Given the description of an element on the screen output the (x, y) to click on. 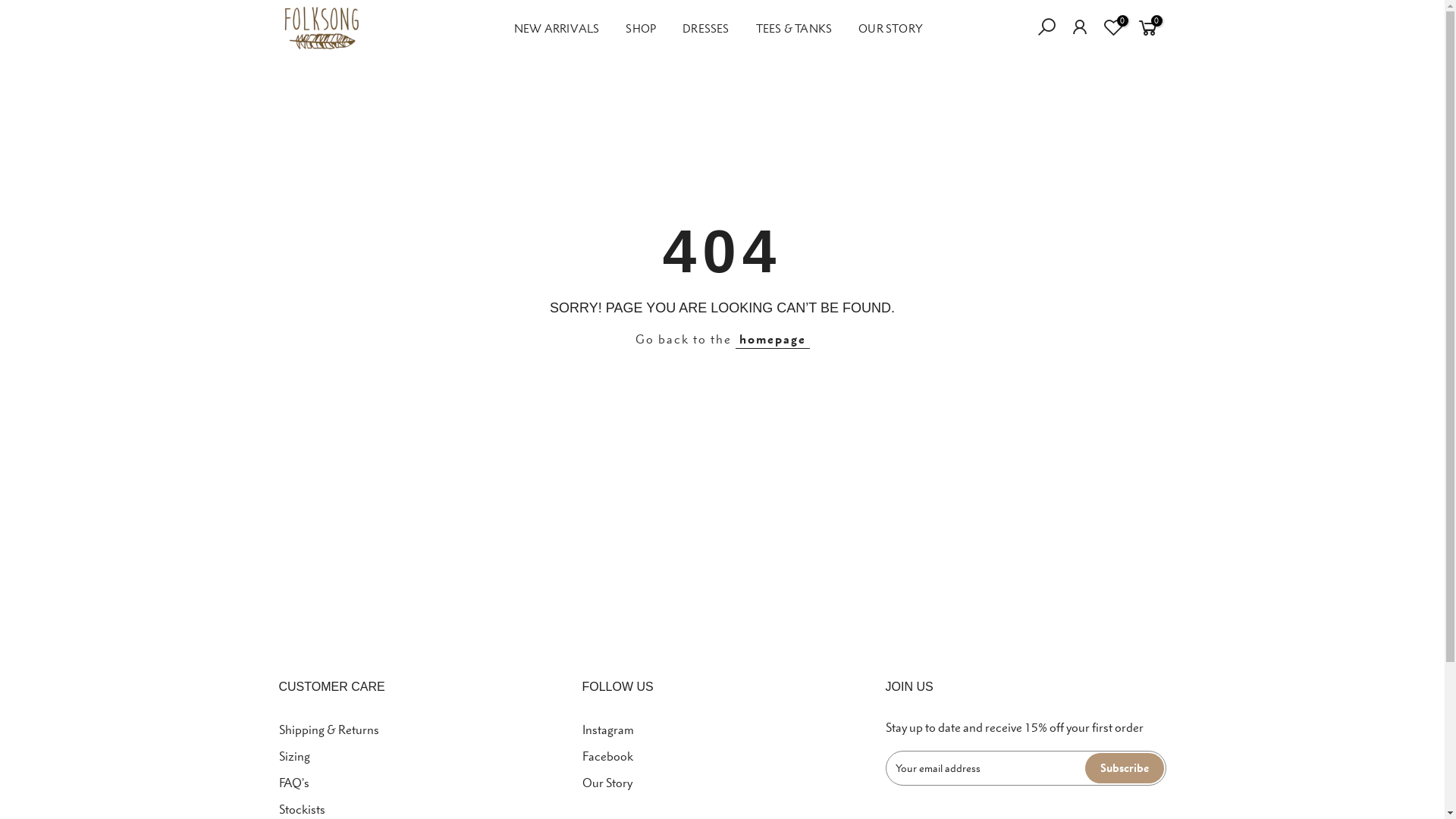
0 Element type: text (1147, 28)
Sizing Element type: text (294, 755)
homepage Element type: text (772, 338)
NEW ARRIVALS Element type: text (556, 27)
Shipping & Returns Element type: text (329, 729)
Stockists Element type: text (302, 808)
SHOP Element type: text (640, 27)
0 Element type: text (1112, 28)
TEES & TANKS Element type: text (793, 27)
DRESSES Element type: text (705, 27)
Our Story Element type: text (607, 782)
Facebook Element type: text (607, 755)
Instagram Element type: text (607, 729)
Subscribe Element type: text (1123, 768)
OUR STORY Element type: text (890, 27)
